Given the description of an element on the screen output the (x, y) to click on. 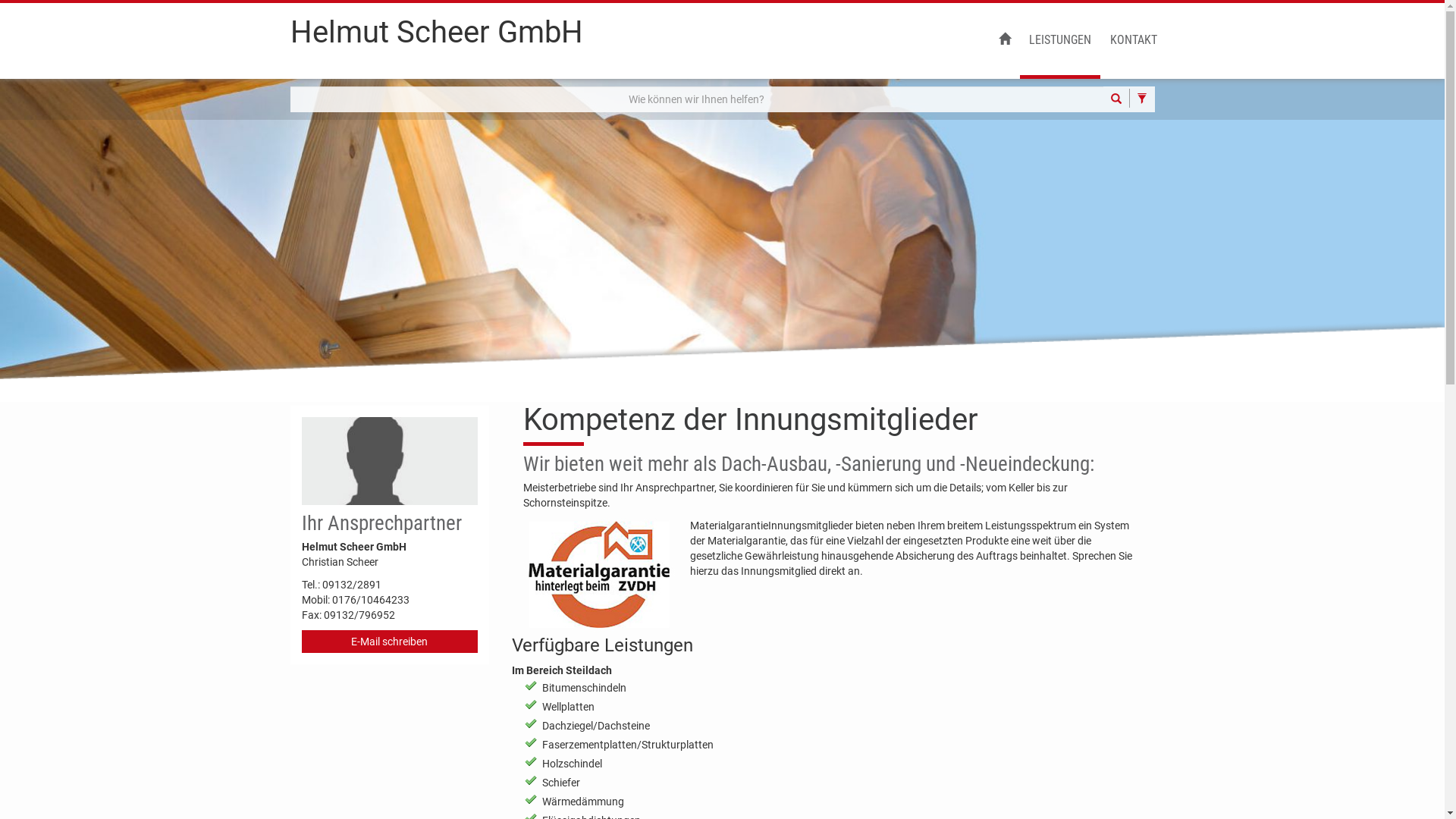
Helmut Scheer GmbH Element type: text (435, 38)
LEISTUNGEN Element type: text (1059, 40)
KONTAKT Element type: text (1133, 40)
E-Mail schreiben Element type: text (389, 641)
